Given the description of an element on the screen output the (x, y) to click on. 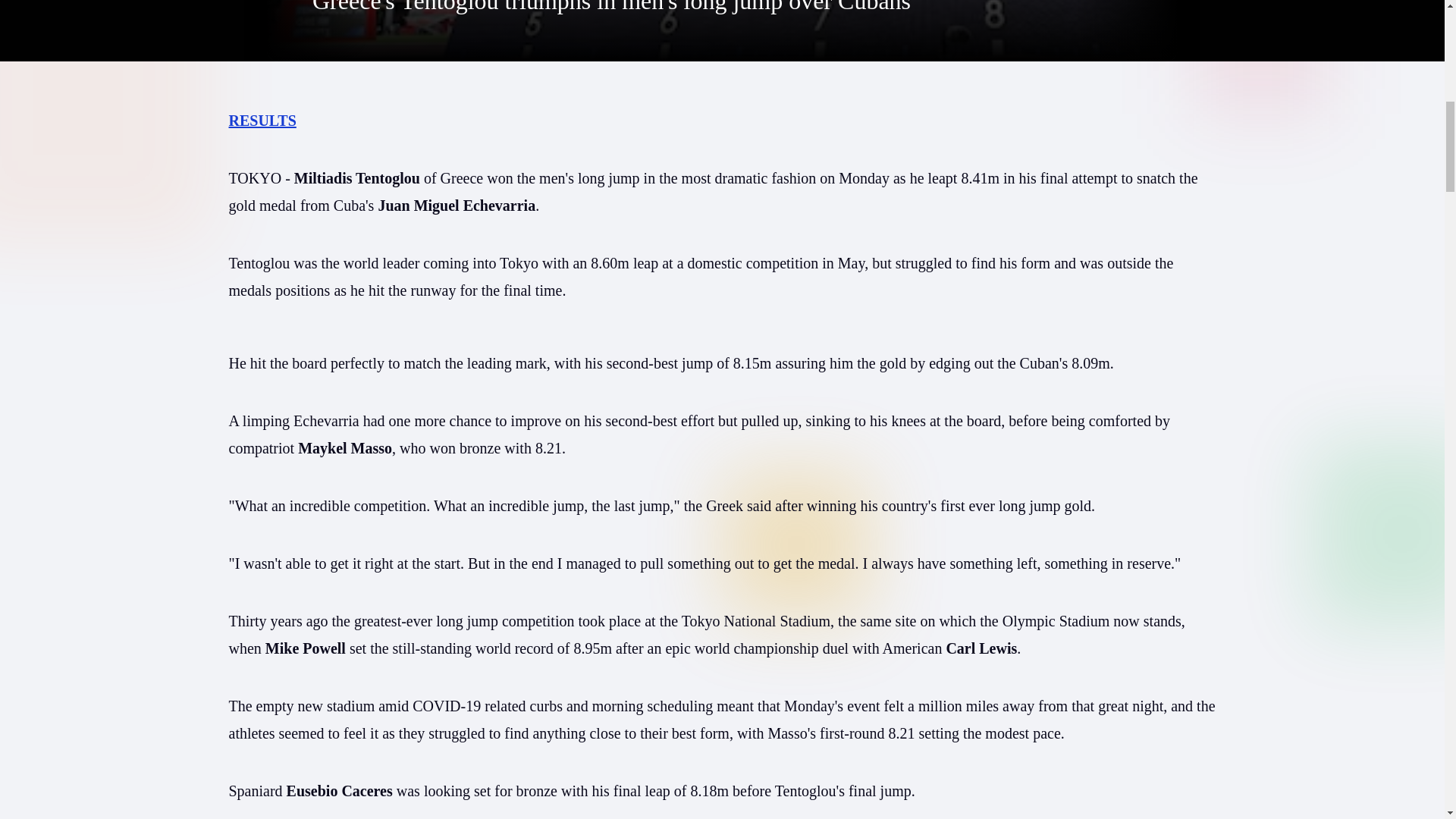
5m 28s (721, 30)
Greece's Tentoglou triumphs in men's long jump over Cubans (612, 7)
RESULTS (262, 120)
